Given the description of an element on the screen output the (x, y) to click on. 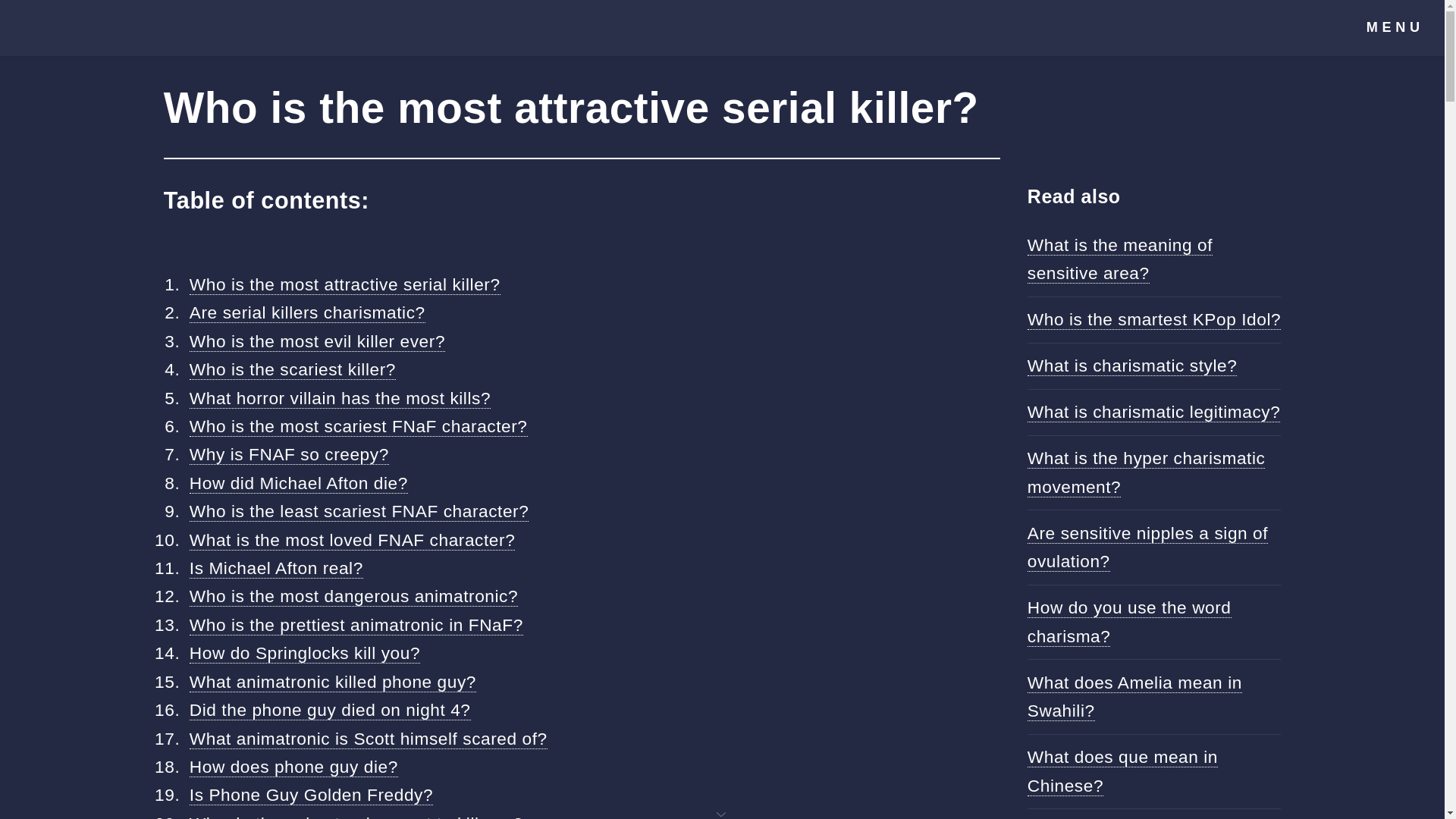
Did the phone guy died on night 4? (329, 710)
Who is the most dangerous animatronic? (353, 596)
Why is FNAF so creepy? (288, 454)
What animatronic killed phone guy? (332, 681)
Is Phone Guy Golden Freddy? (310, 794)
Who is the least scariest FNAF character? (359, 511)
Who is the most attractive serial killer? (344, 284)
Ad.Plus Advertising (722, 813)
Are sensitive nipples a sign of ovulation? (1147, 547)
What animatronic is Scott himself scared of? (368, 738)
Is Michael Afton real? (275, 567)
Who is the most evil killer ever? (317, 341)
Who is the smartest KPop Idol? (1154, 319)
What is charismatic style? (1132, 365)
What is the hyper charismatic movement? (1146, 471)
